Given the description of an element on the screen output the (x, y) to click on. 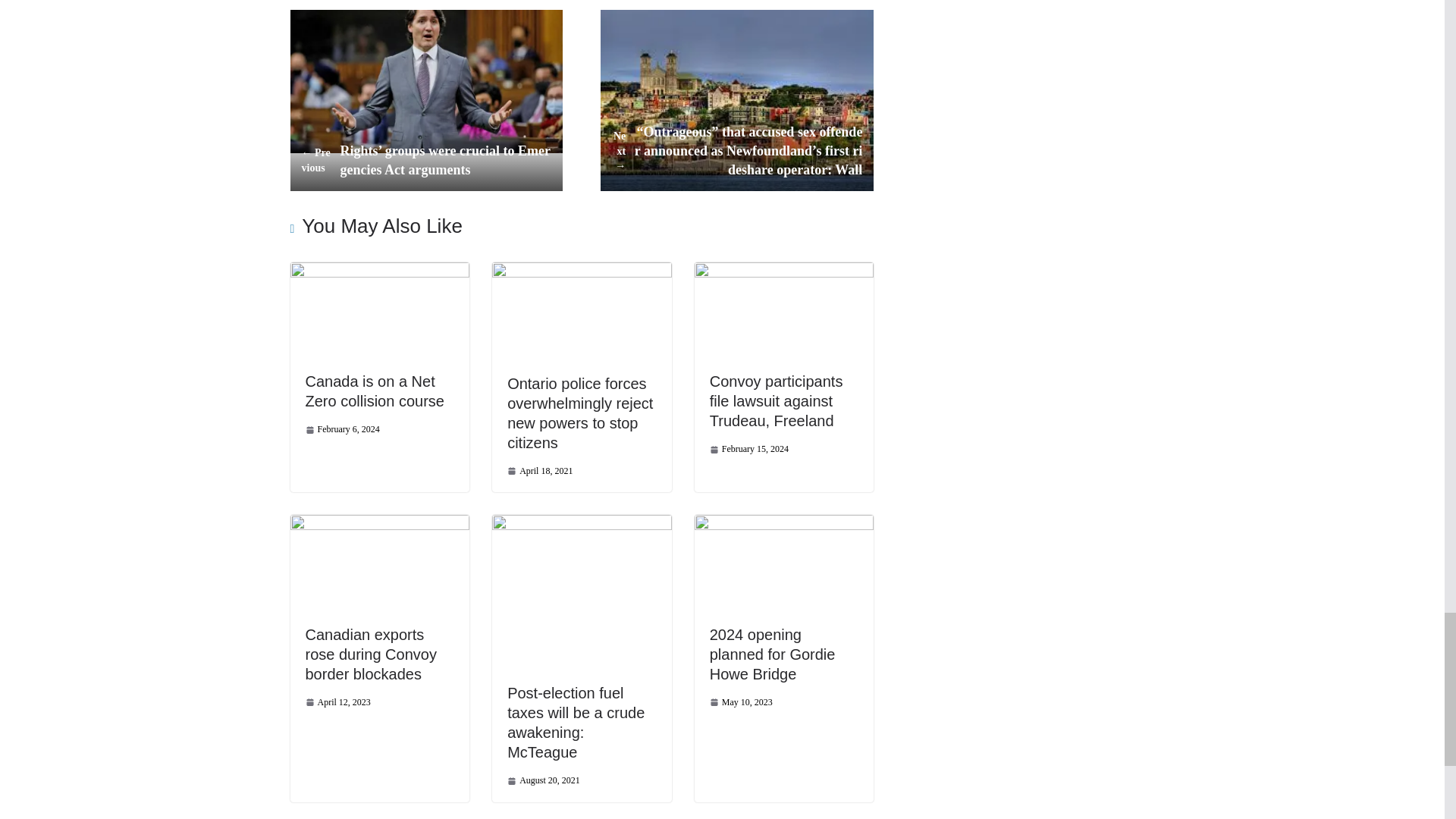
April 18, 2021 (539, 471)
Canada is on a Net Zero collision course (378, 269)
Canada is on a Net Zero collision course (374, 391)
February 6, 2024 (341, 429)
8:00 am (749, 449)
9:02 am (539, 471)
Canada is on a Net Zero collision course (374, 391)
12:14 pm (341, 429)
Convoy participants file lawsuit against Trudeau, Freeland (776, 401)
Convoy participants file lawsuit against Trudeau, Freeland (776, 401)
Convoy participants file lawsuit against Trudeau, Freeland (784, 269)
